Given the description of an element on the screen output the (x, y) to click on. 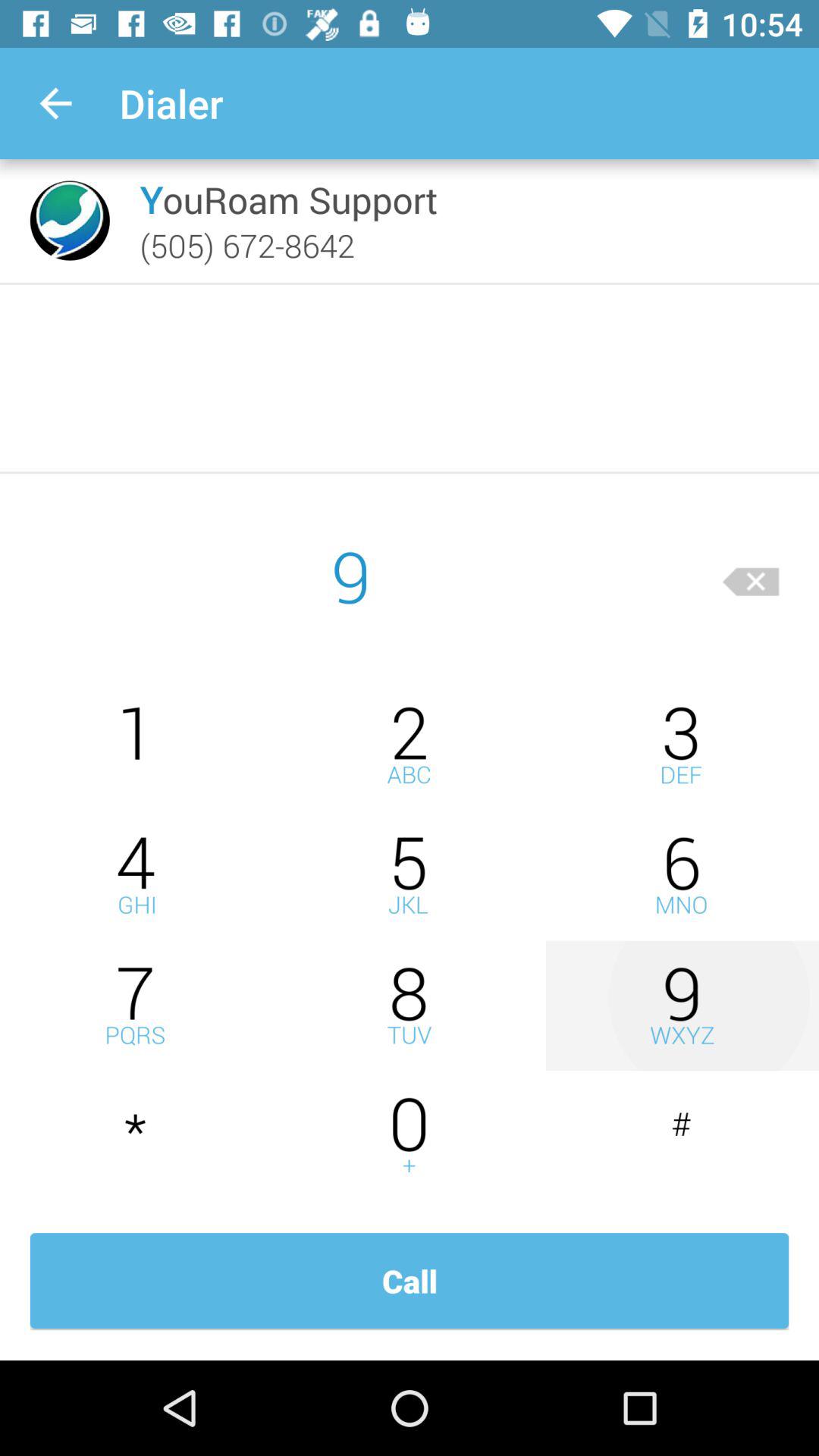
select number 6 (682, 875)
